Given the description of an element on the screen output the (x, y) to click on. 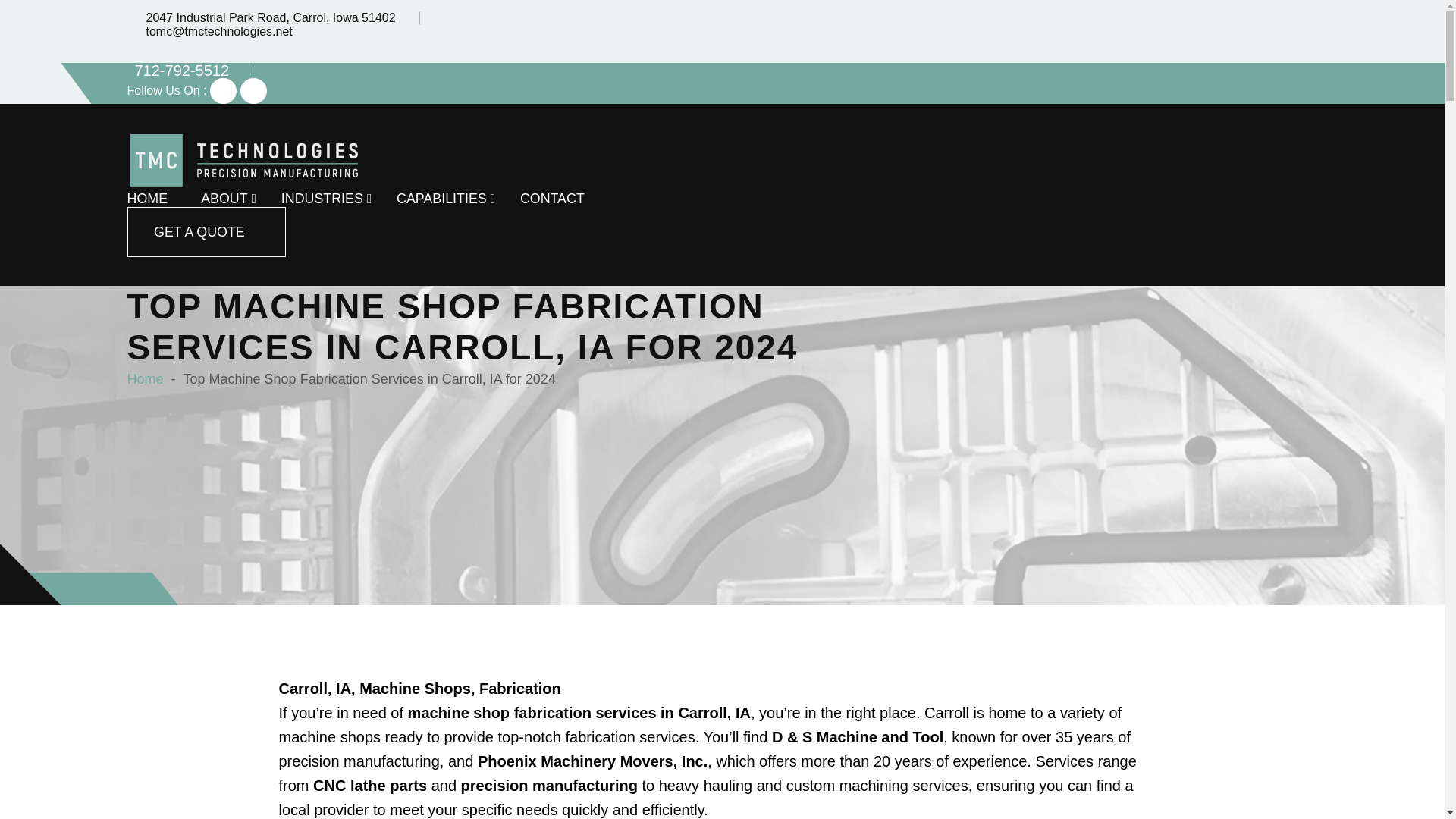
2047 Industrial Park Road, Carrol, Iowa 51402 (266, 18)
HOME (148, 198)
CAPABILITIES (441, 198)
GET A QUOTE (207, 231)
712-792-5512 (182, 70)
CONTACT (552, 198)
Home (145, 378)
ABOUT (223, 198)
INDUSTRIES (321, 198)
